Given the description of an element on the screen output the (x, y) to click on. 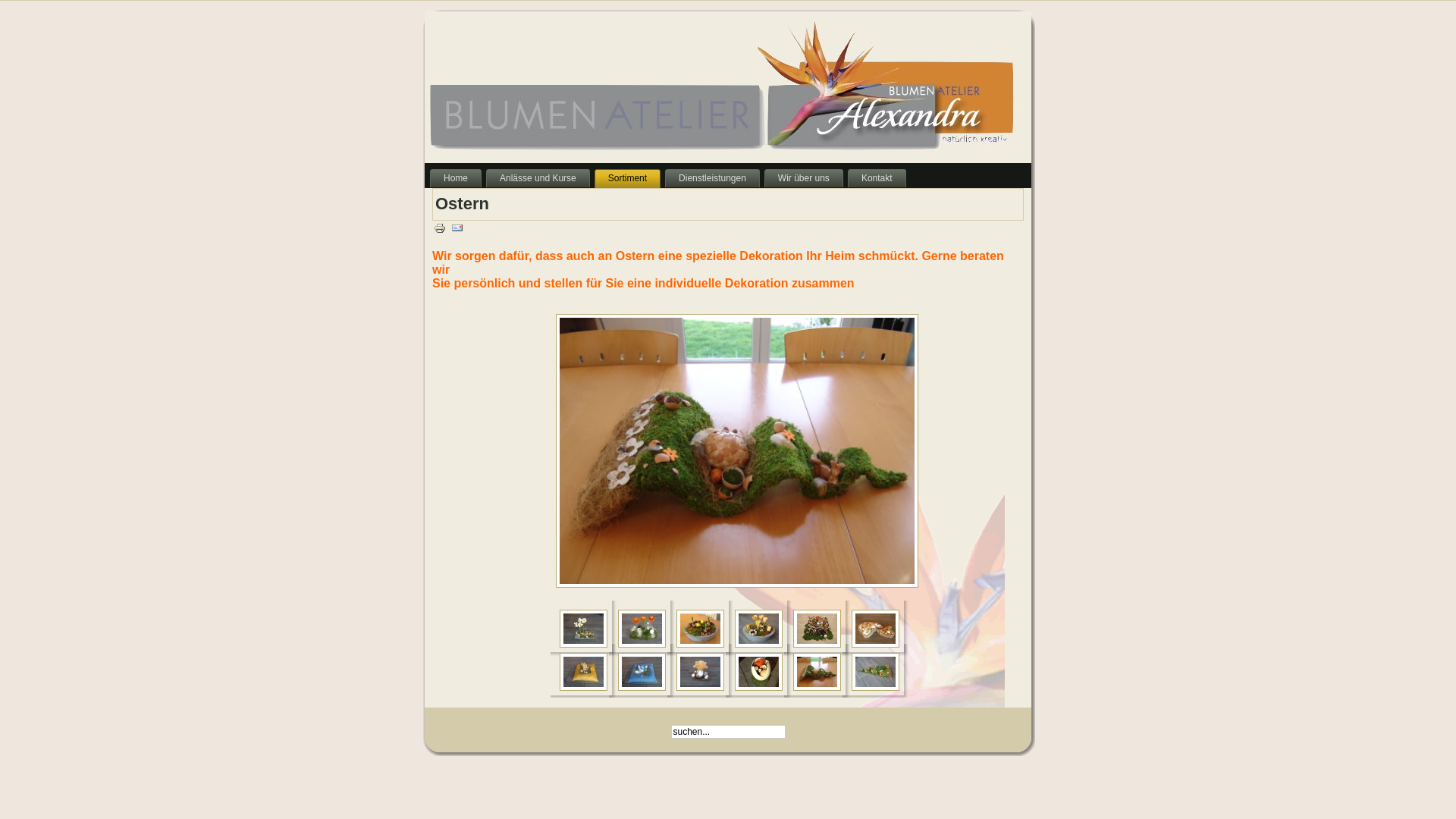
kissen_huhn Element type: hover (641, 671)
welle_hasen Element type: hover (875, 671)
herzen_eierschale Element type: hover (875, 628)
gesteck_rund_tulpen Element type: hover (758, 628)
gesteck_narzissen Element type: hover (583, 628)
E-Mail Element type: hover (456, 227)
kissen_hase Element type: hover (583, 671)
t_ei_rose Element type: hover (700, 671)
welle_eier Element type: hover (736, 450)
Kontakt Element type: text (876, 178)
gesteck_rund_bibeli Element type: hover (700, 628)
gesteck_ranunkel Element type: hover (641, 628)
gnusch_ranunkel Element type: hover (817, 628)
t_ei_rose2 Element type: hover (758, 671)
Home Element type: text (455, 178)
Dienstleistungen Element type: text (712, 178)
Sortiment Element type: text (627, 178)
welle_eier Element type: hover (817, 671)
Drucken Element type: hover (439, 227)
